Given the description of an element on the screen output the (x, y) to click on. 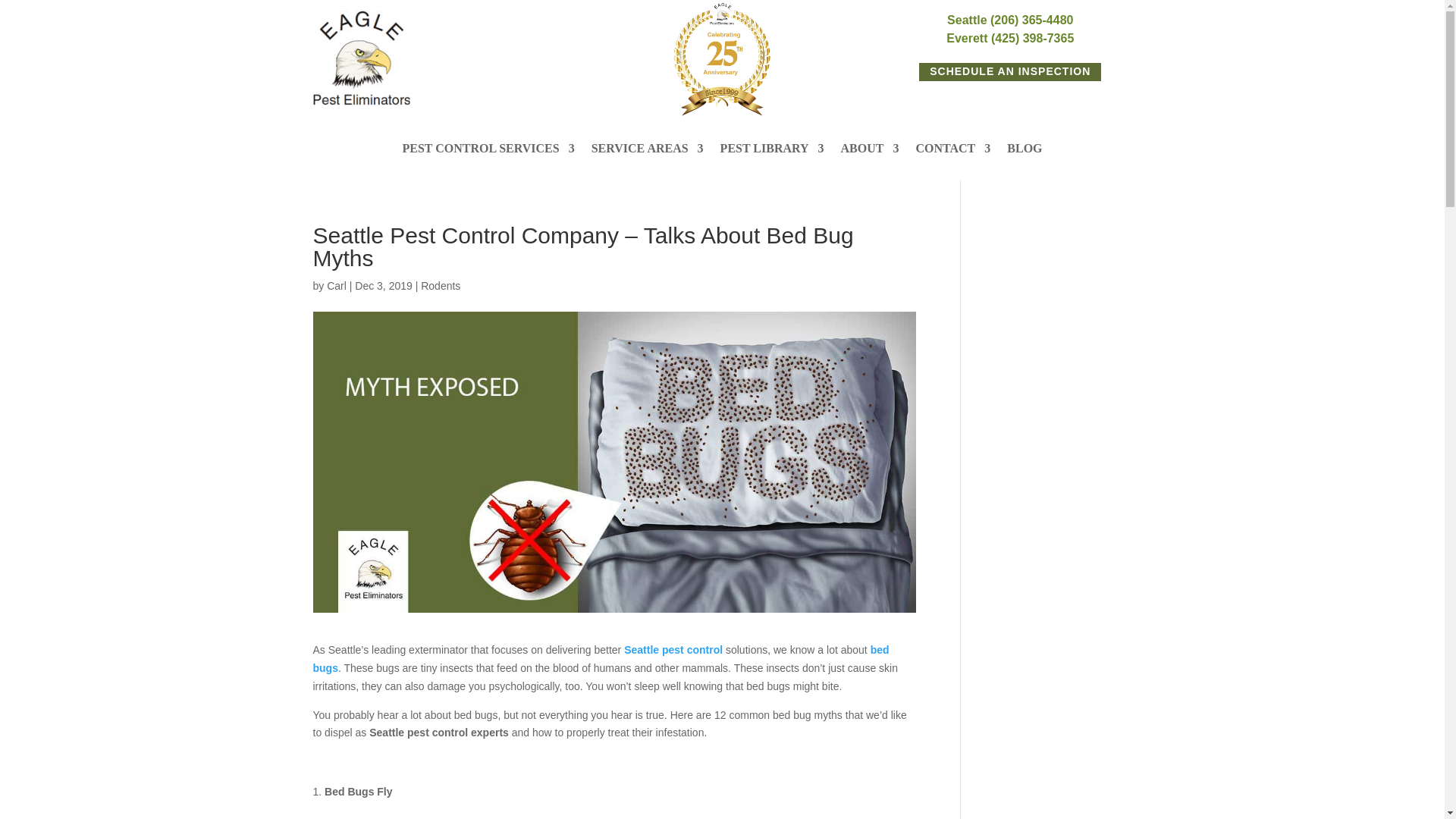
SCHEDULE AN INSPECTION (1009, 72)
Posts by Carl (336, 285)
ABOUT (870, 151)
PEST LIBRARY (772, 151)
BLOG (1024, 151)
SERVICE AREAS (647, 151)
CONTACT (952, 151)
PEST CONTROL SERVICES (487, 151)
logo-smaller (361, 57)
